Given the description of an element on the screen output the (x, y) to click on. 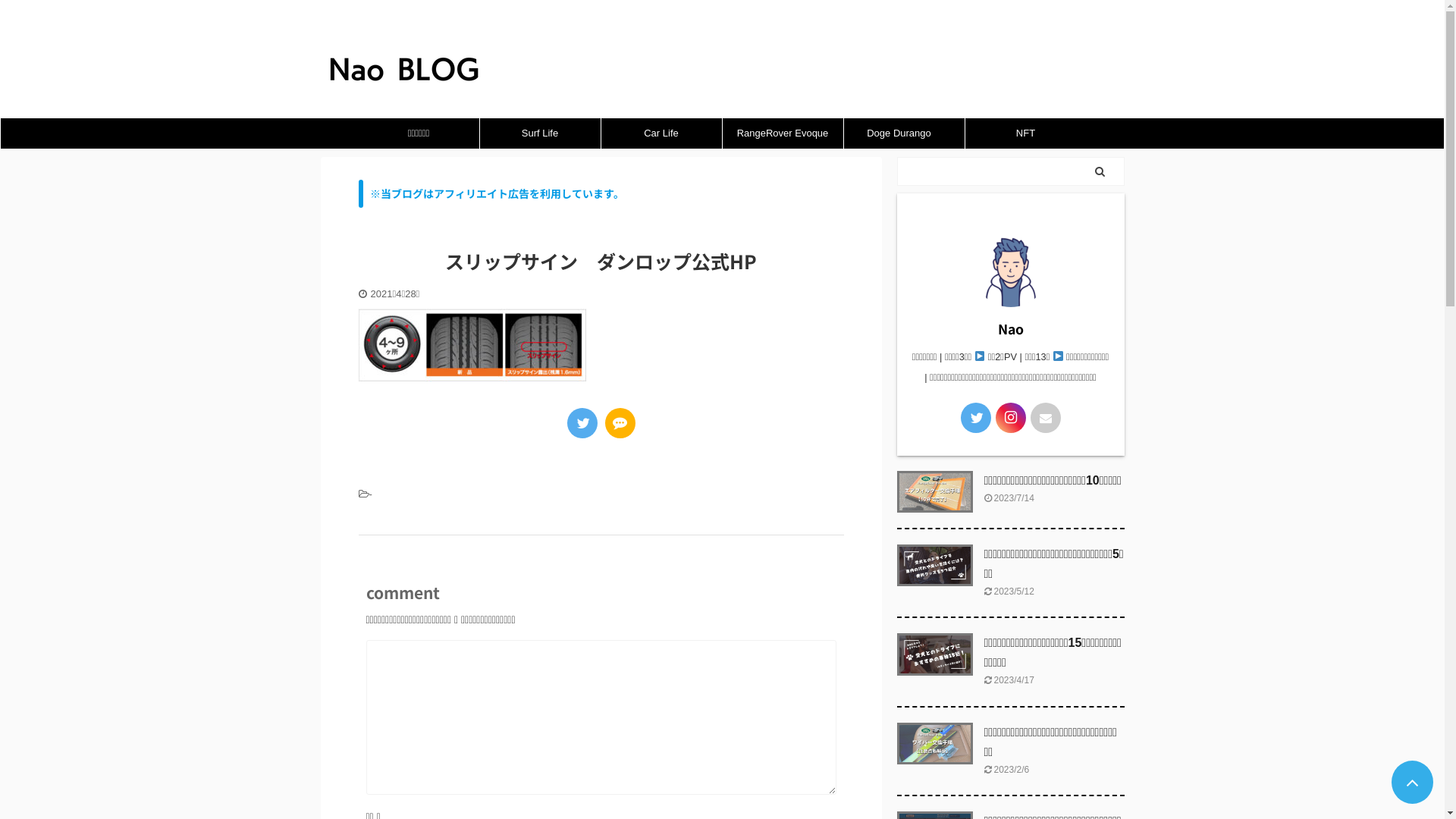
Car Life Element type: text (660, 133)
Doge Durango Element type: text (903, 133)
Surf Life Element type: text (539, 133)
RangeRover Evoque Element type: text (781, 133)
NFT Element type: text (1024, 133)
